Given the description of an element on the screen output the (x, y) to click on. 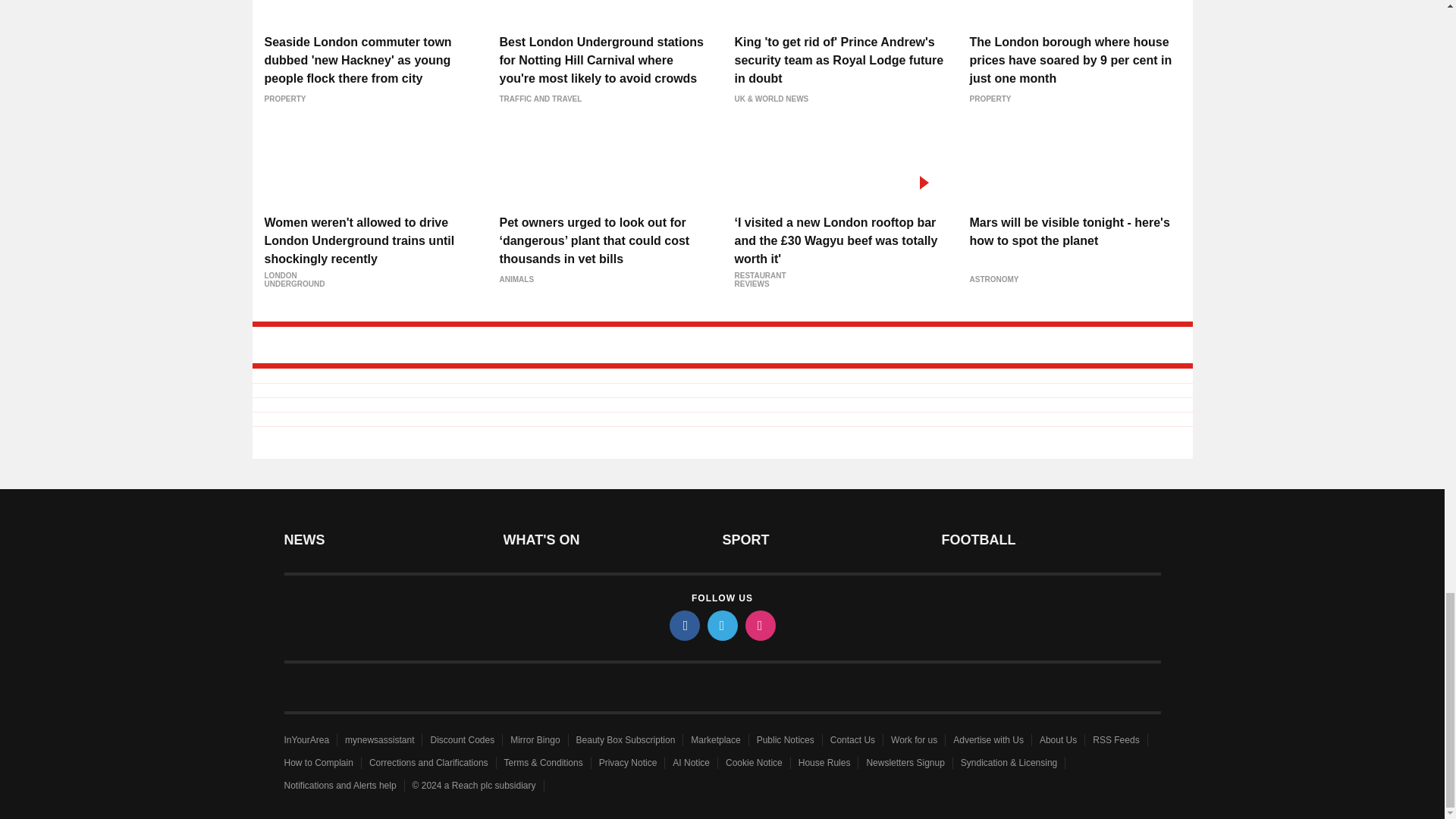
instagram (759, 625)
facebook (683, 625)
twitter (721, 625)
